Given the description of an element on the screen output the (x, y) to click on. 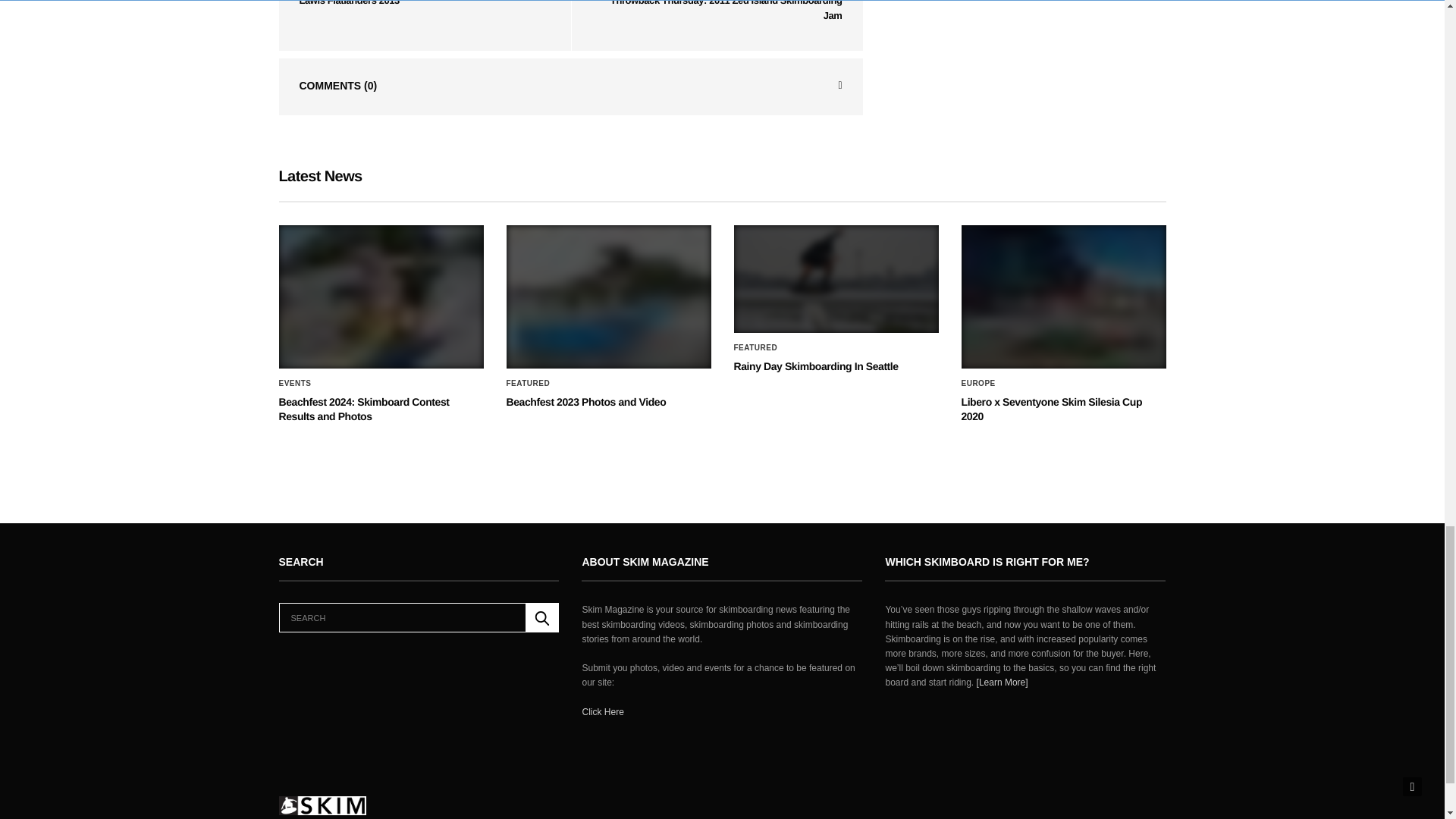
Search (542, 617)
